Given the description of an element on the screen output the (x, y) to click on. 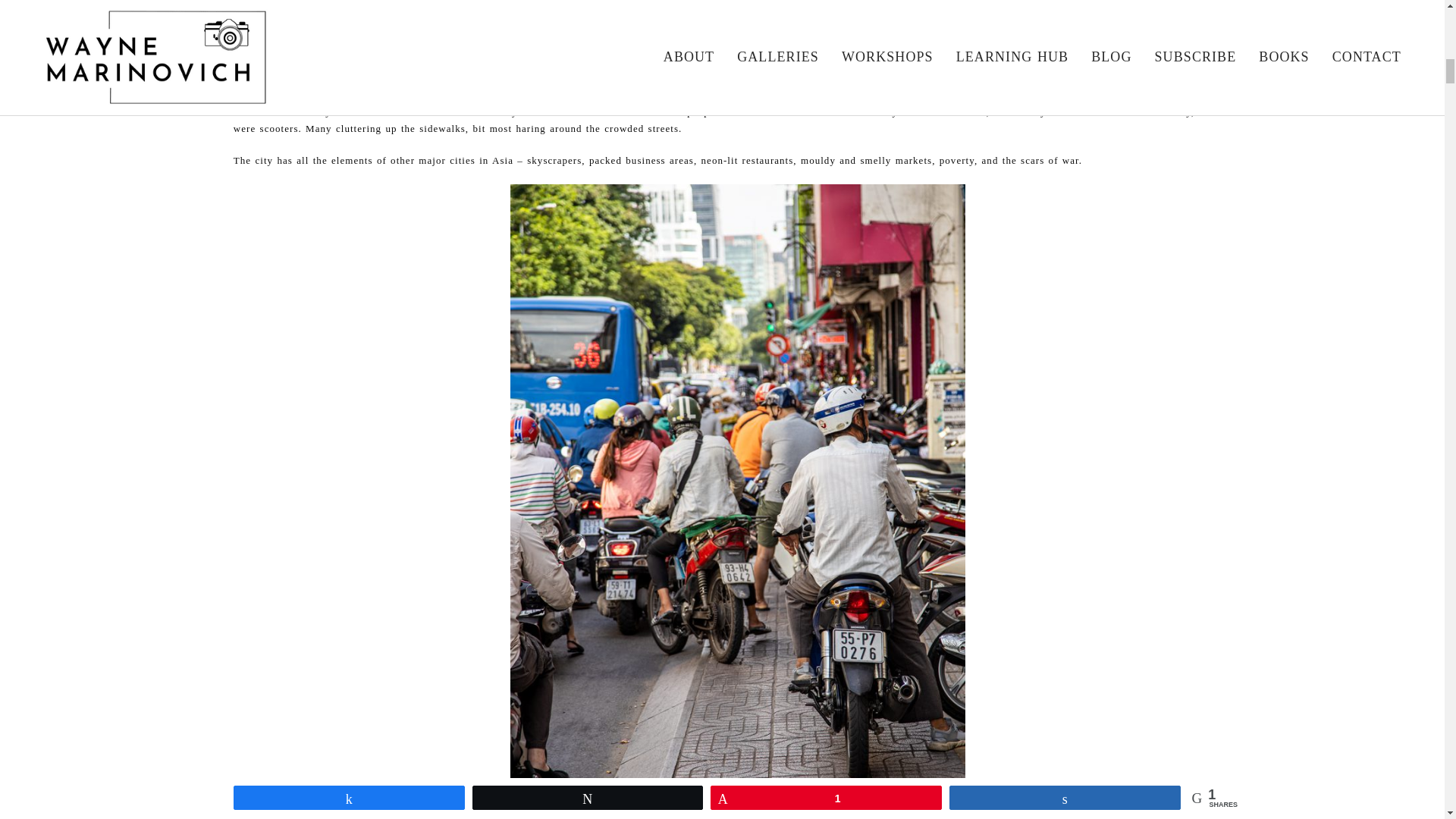
Cambodian trip (540, 94)
